Given the description of an element on the screen output the (x, y) to click on. 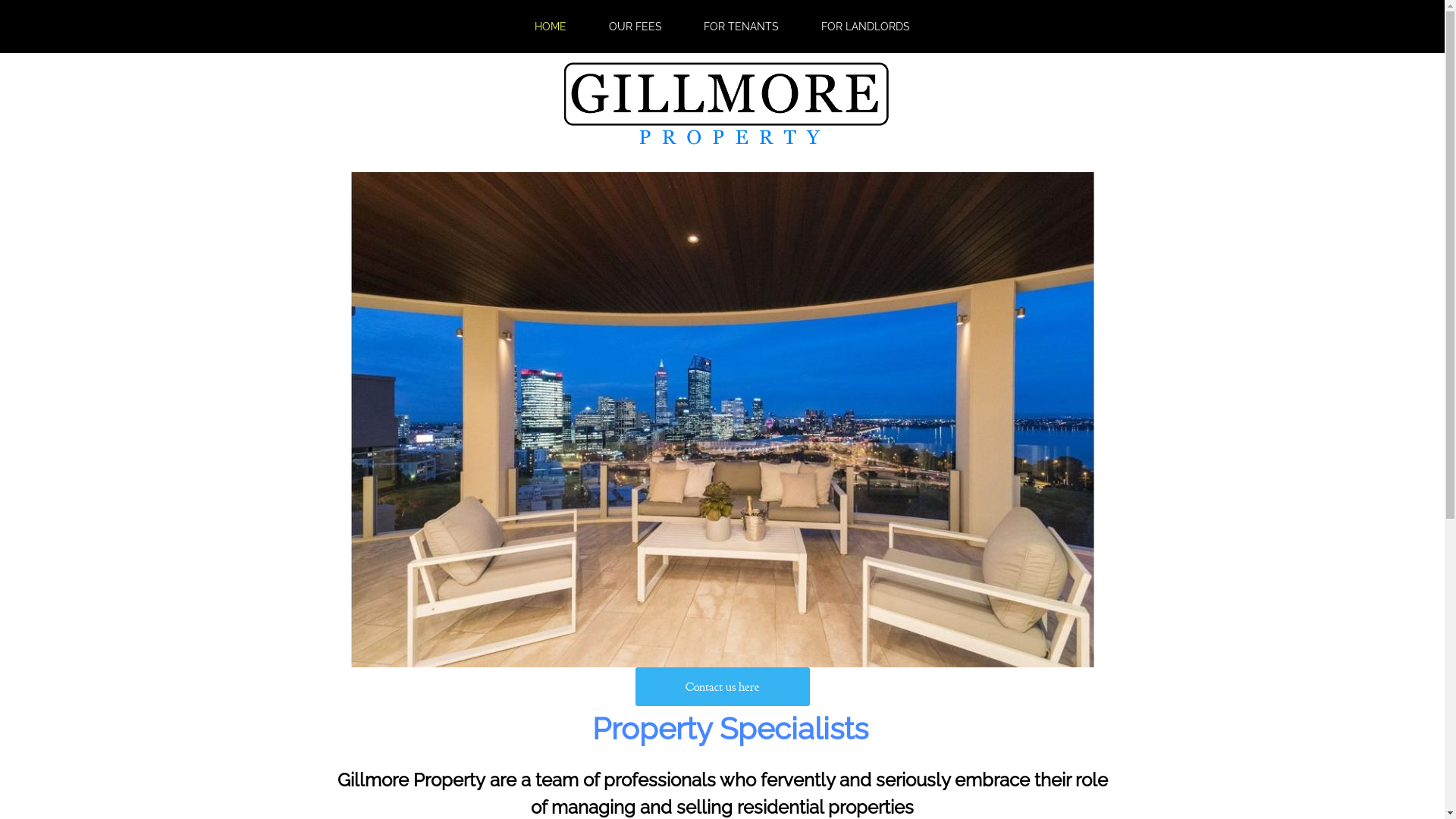
FOR LANDLORDS Element type: text (865, 25)
Contact us here Element type: text (722, 686)
HOME Element type: text (550, 25)
FOR TENANTS Element type: text (740, 25)
OUR FEES Element type: text (635, 25)
